Given the description of an element on the screen output the (x, y) to click on. 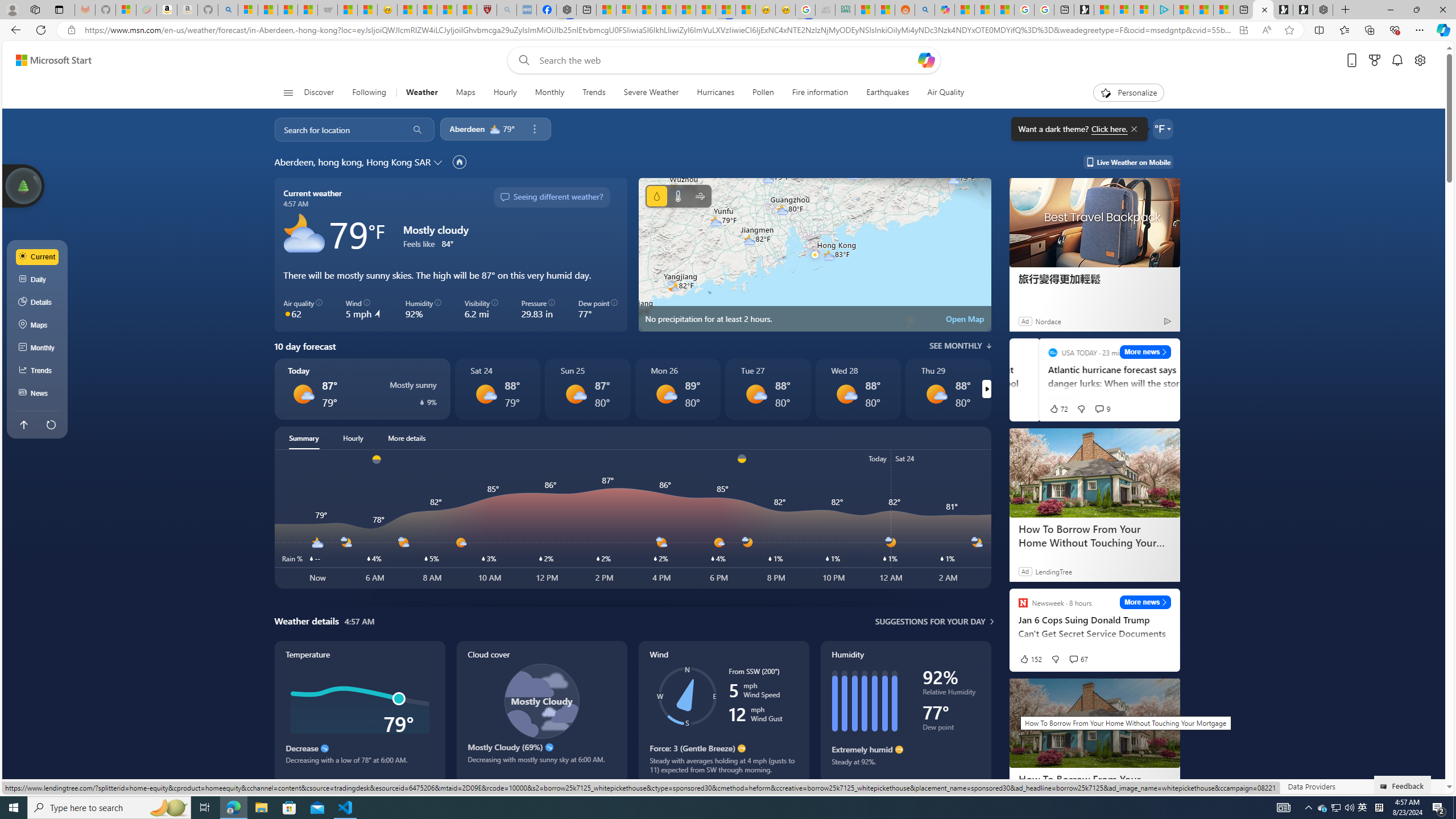
Enter your search term (726, 59)
Details (37, 302)
See Monthly (959, 345)
Seeing different weather? (551, 196)
